Given the description of an element on the screen output the (x, y) to click on. 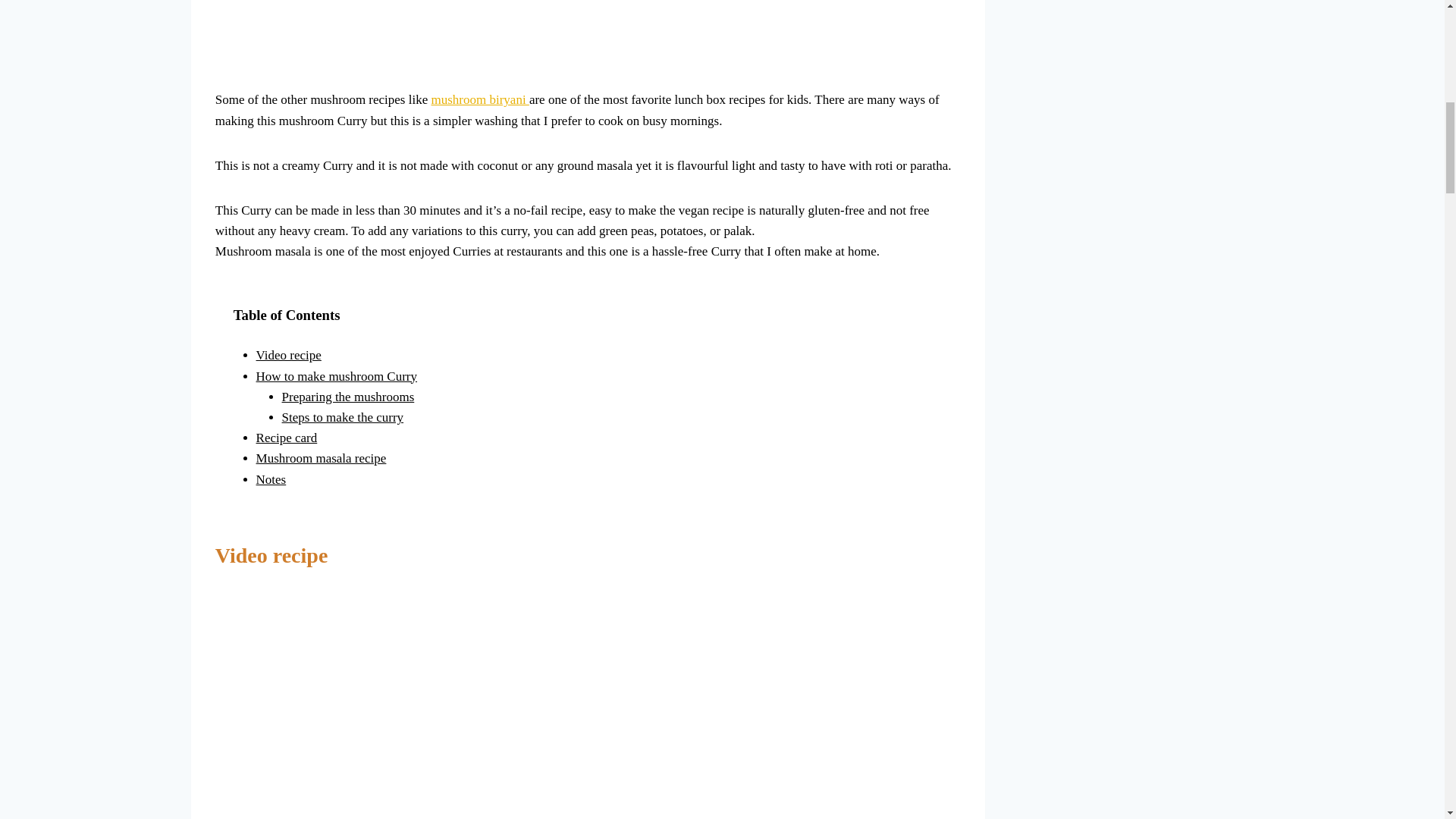
mushroom biryani (479, 99)
Preparing the mushrooms (348, 396)
Steps to make the curry (343, 417)
Notes (271, 479)
Mushroom masala recipe (321, 458)
Recipe card (286, 437)
How to make mushroom Curry (336, 376)
Video recipe (288, 355)
